Given the description of an element on the screen output the (x, y) to click on. 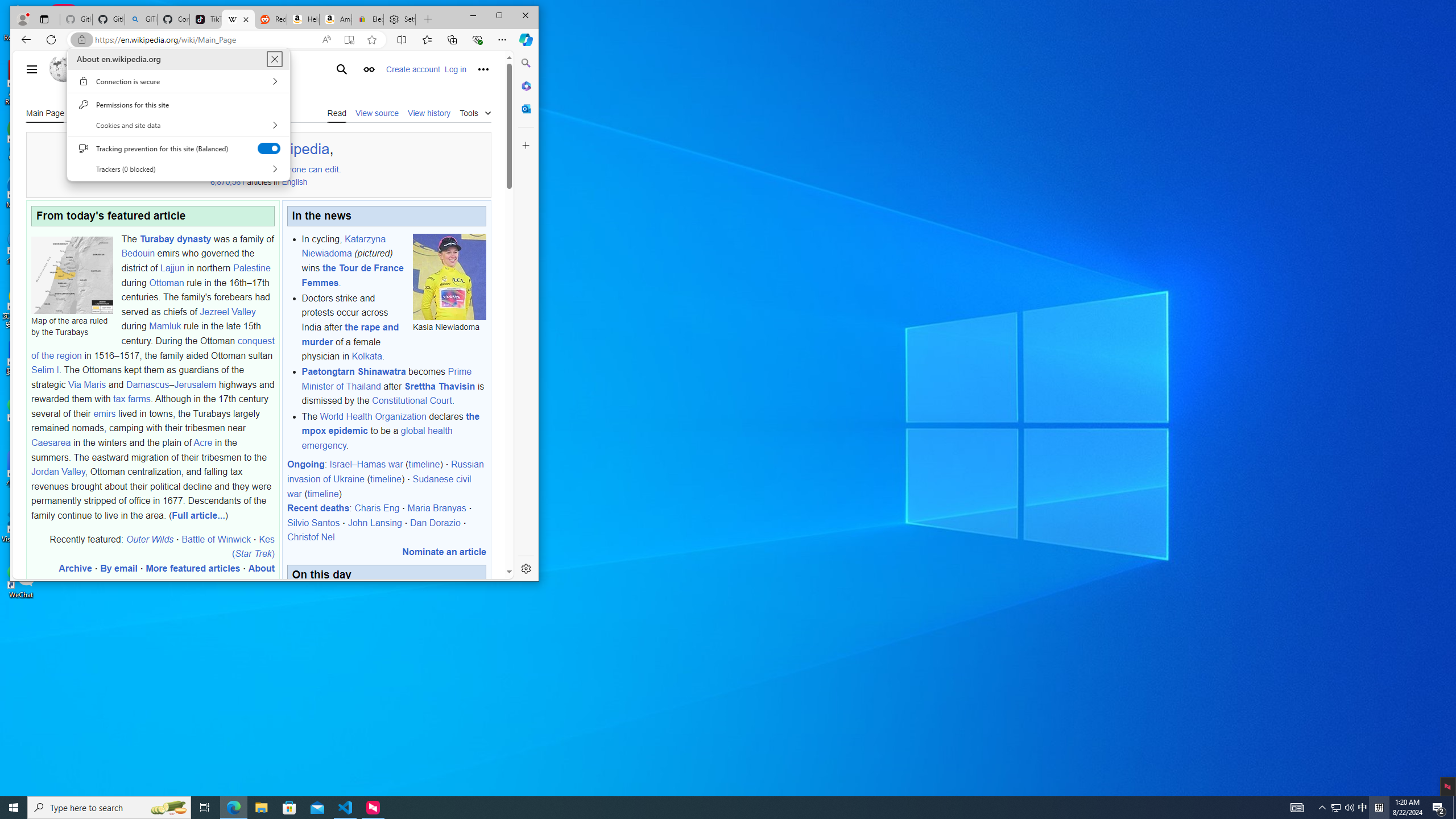
Create account (412, 68)
Personal tools (482, 68)
emirs (104, 413)
Appearance (368, 68)
Wikipedia, the free encyclopedia (237, 19)
Kasia Niewiadoma (449, 276)
Cookies and site data (177, 124)
Connection is secure (177, 81)
Main menu (30, 68)
Tracking prevention for this site (Balanced) (269, 147)
